Given the description of an element on the screen output the (x, y) to click on. 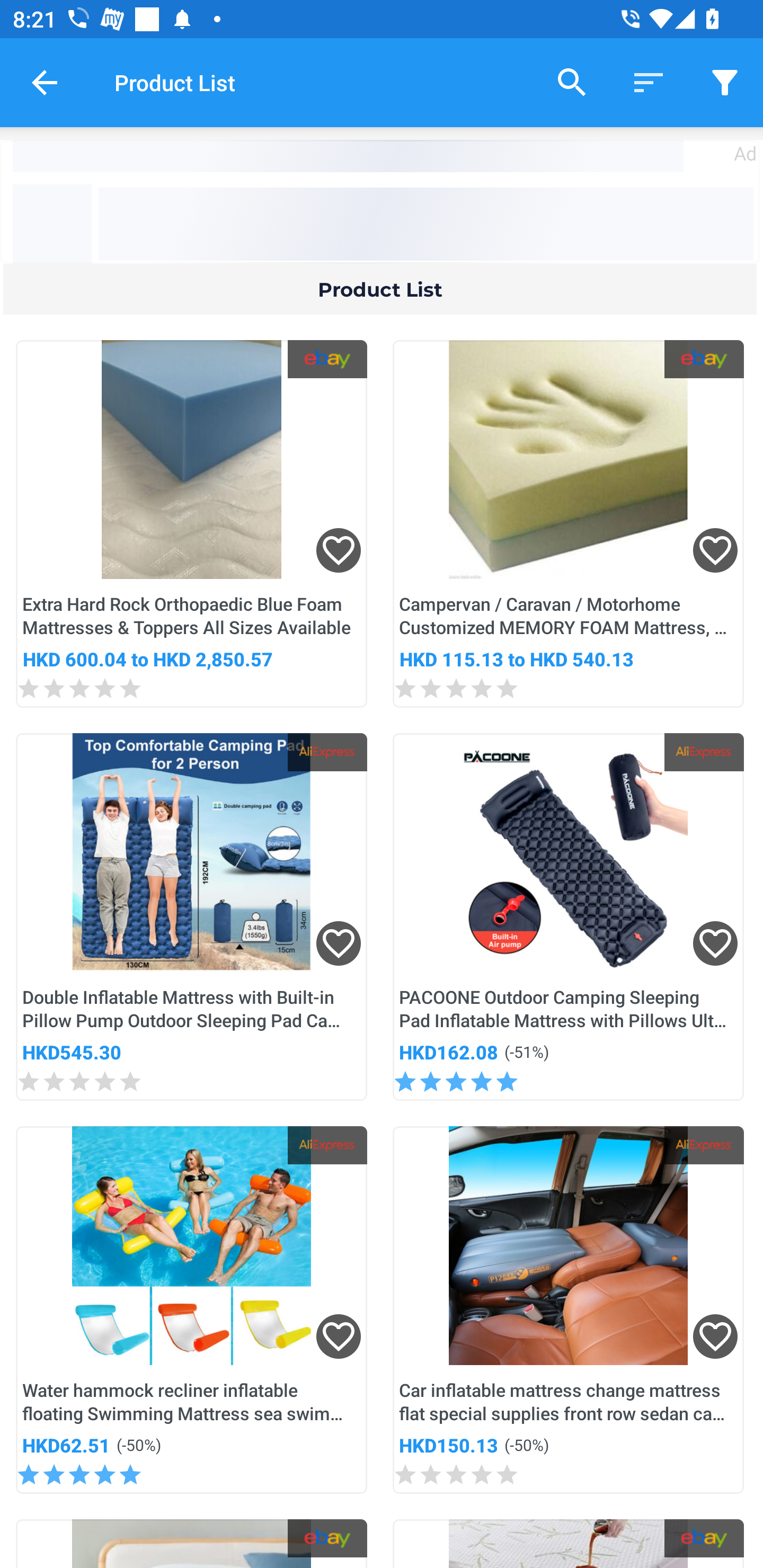
Navigate up (44, 82)
Search (572, 81)
short (648, 81)
short (724, 81)
